Given the description of an element on the screen output the (x, y) to click on. 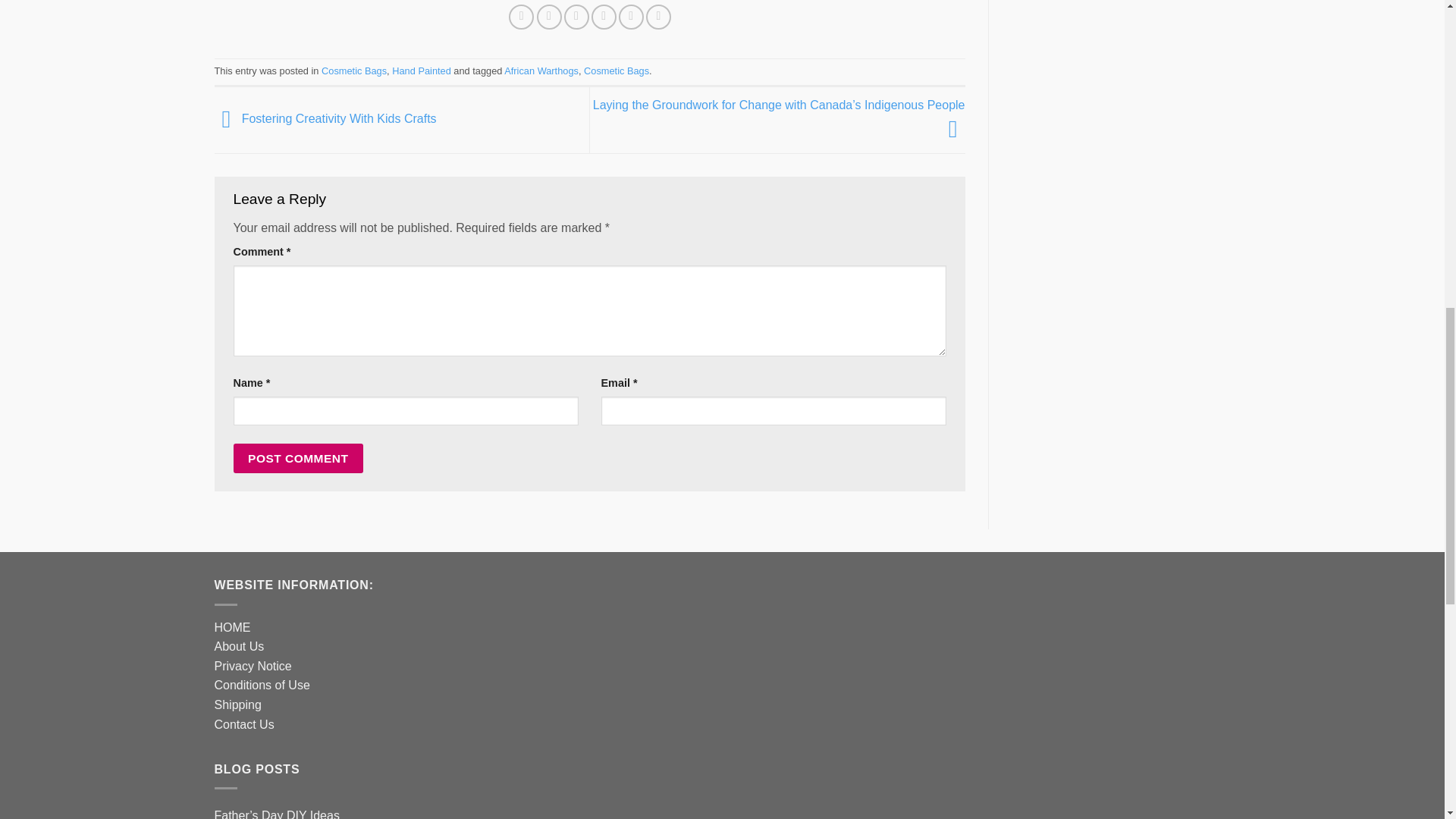
Email to a Friend (576, 16)
Post Comment (298, 458)
Share on Facebook (521, 16)
Share on Twitter (549, 16)
